Given the description of an element on the screen output the (x, y) to click on. 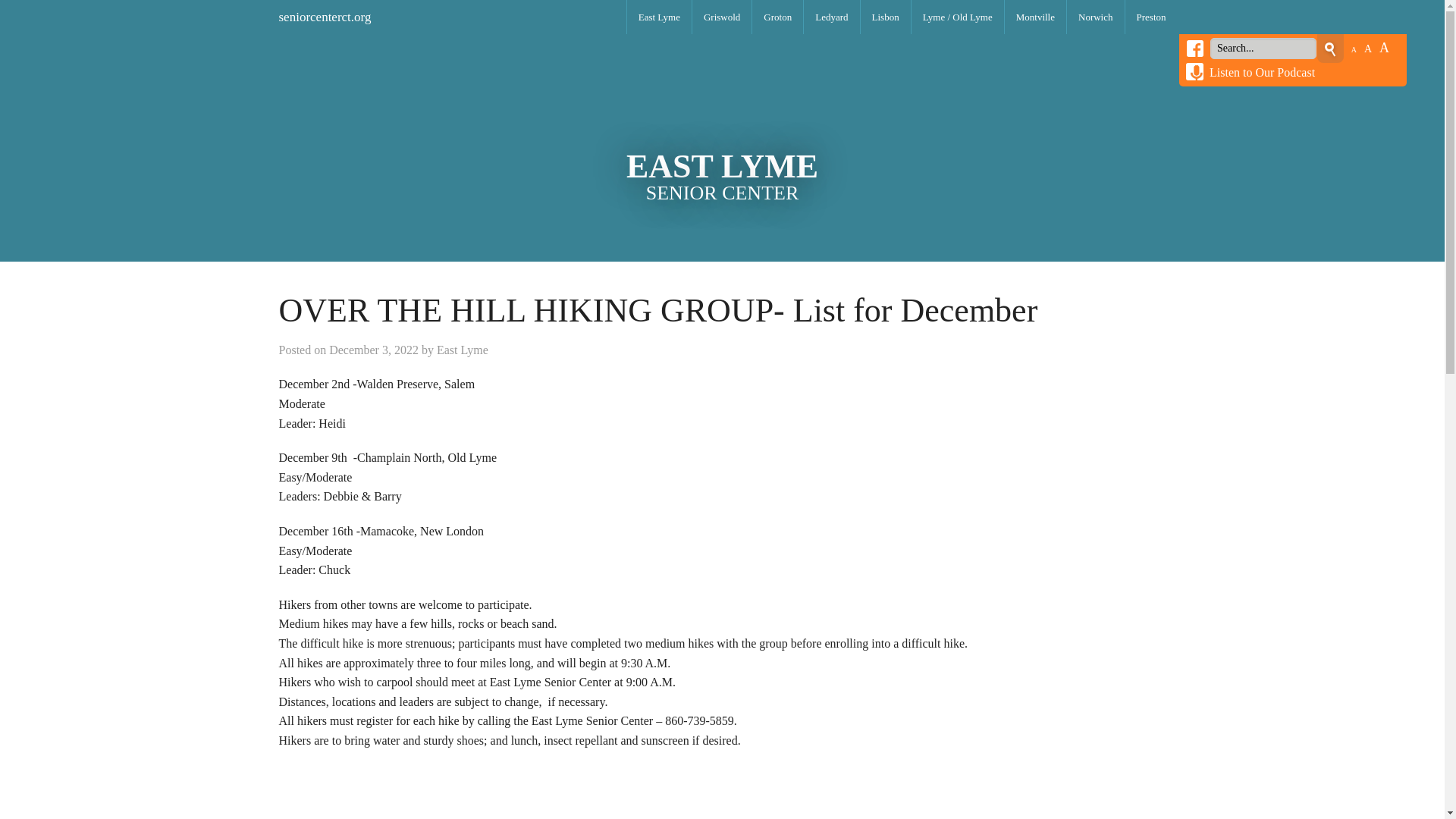
Programs (777, 84)
Transportation (659, 153)
Resources (722, 187)
Search for: (1262, 47)
News (659, 119)
Services (885, 221)
Ledyard (831, 17)
Griswold (722, 17)
Calendar (777, 50)
Services (722, 221)
